Given the description of an element on the screen output the (x, y) to click on. 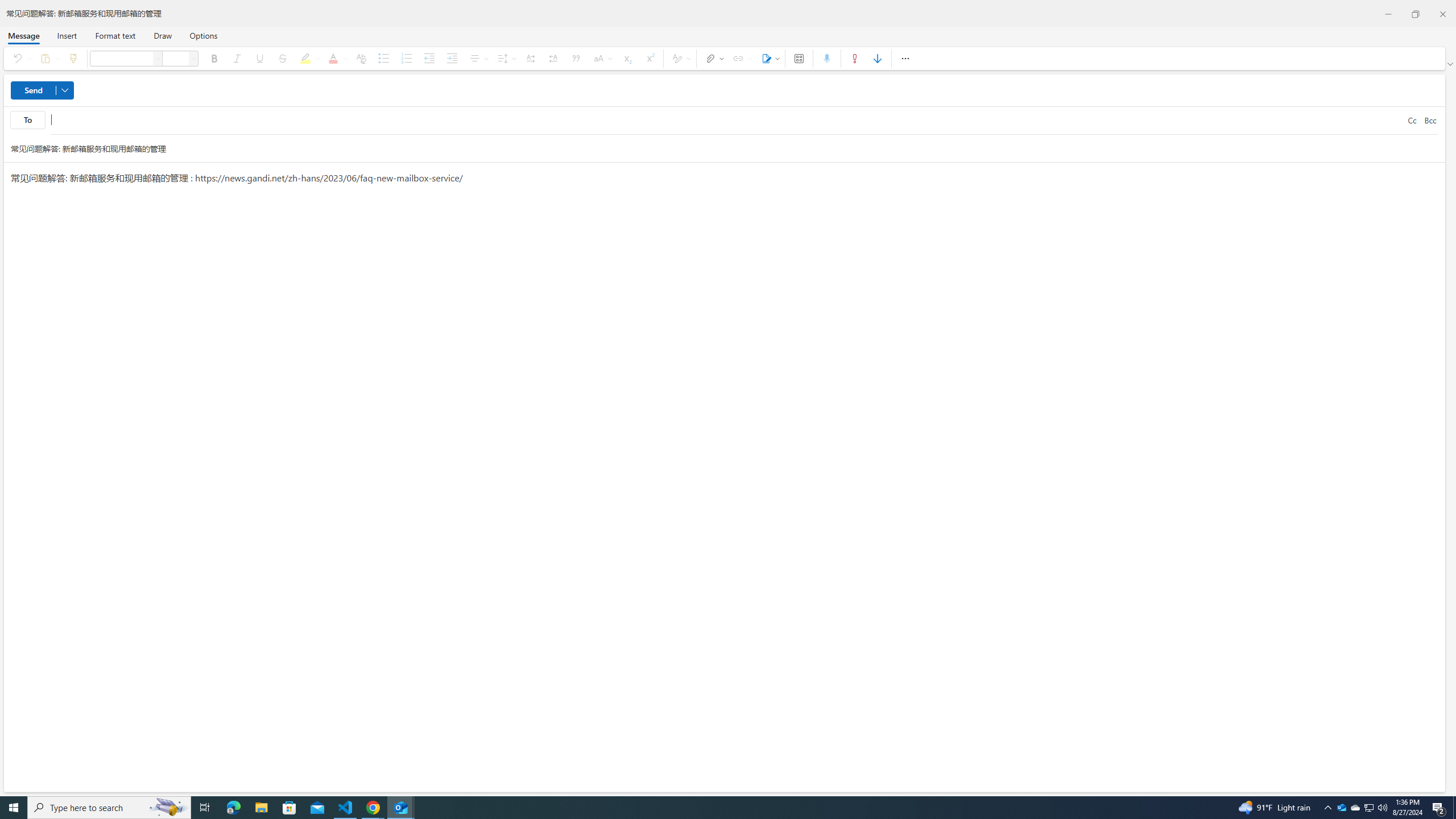
Quote (576, 58)
Insert (66, 35)
Font (157, 58)
To (726, 120)
Clear formatting (360, 58)
Low importance (877, 58)
To (27, 119)
Dictate (826, 58)
More send options (64, 90)
Left-to-right (530, 58)
Subscript (626, 58)
Link (740, 58)
Align (477, 58)
Italic (236, 58)
More options (905, 58)
